Given the description of an element on the screen output the (x, y) to click on. 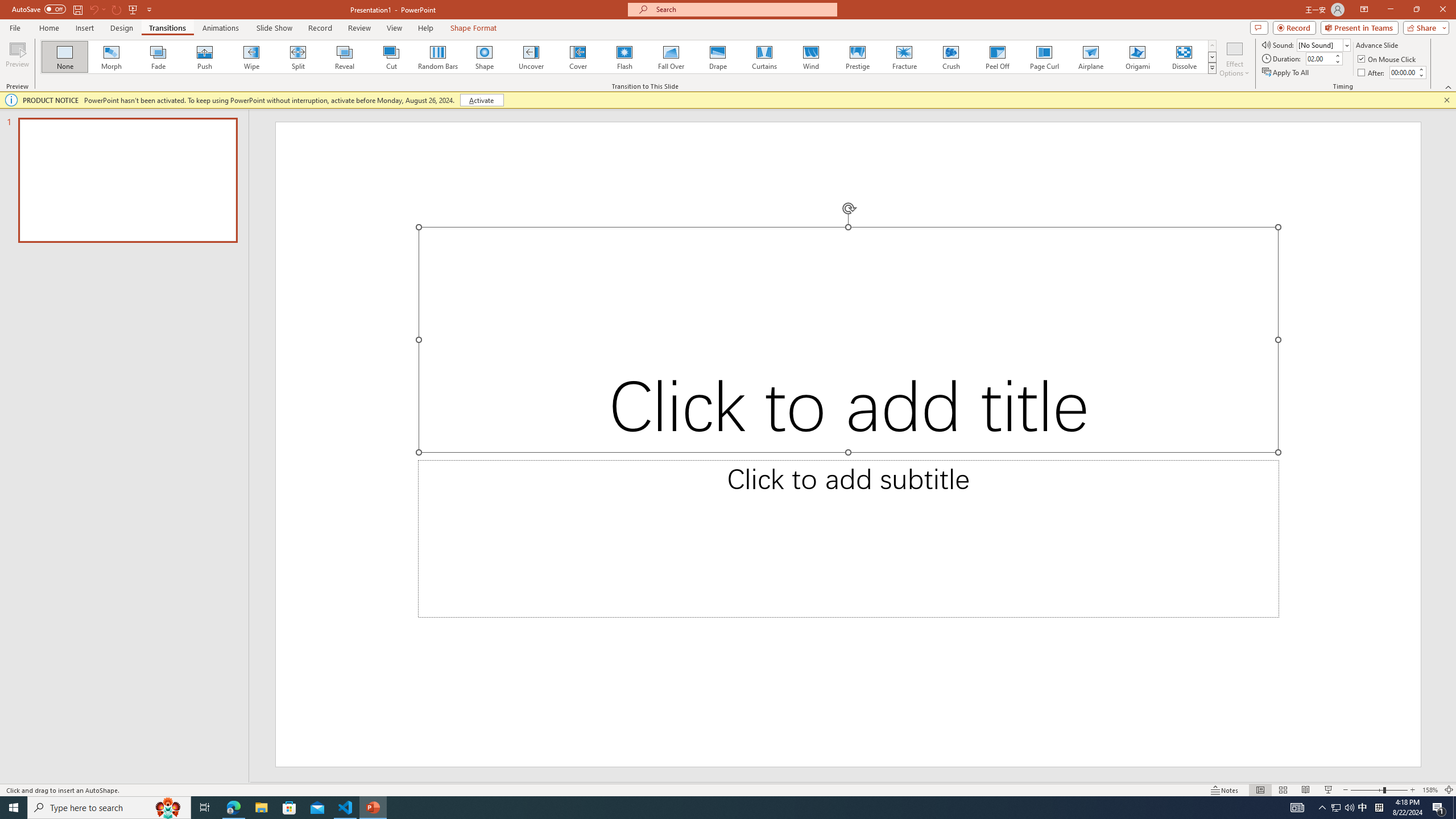
Uncover (531, 56)
Page Curl (1043, 56)
Wipe (251, 56)
Morph (111, 56)
Transition Effects (1212, 67)
Peel Off (997, 56)
Fracture (903, 56)
